Given the description of an element on the screen output the (x, y) to click on. 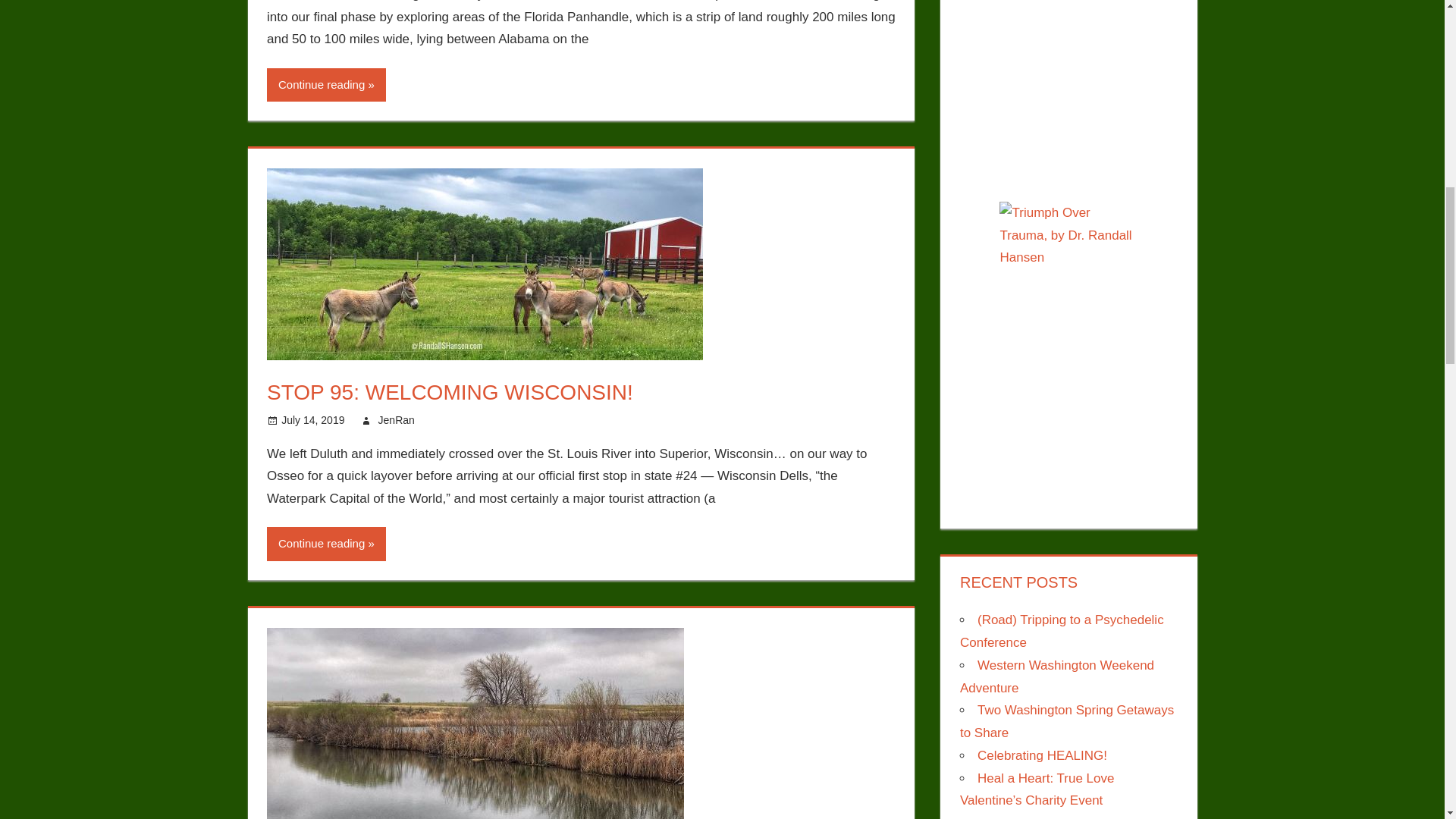
JenRan (396, 419)
12:10 pm (312, 419)
View all posts by JenRan (396, 419)
Leave a comment (490, 419)
Uncategorized (482, 419)
July 14, 2019 (312, 419)
STOP 95: WELCOMING WISCONSIN! (449, 392)
